Given the description of an element on the screen output the (x, y) to click on. 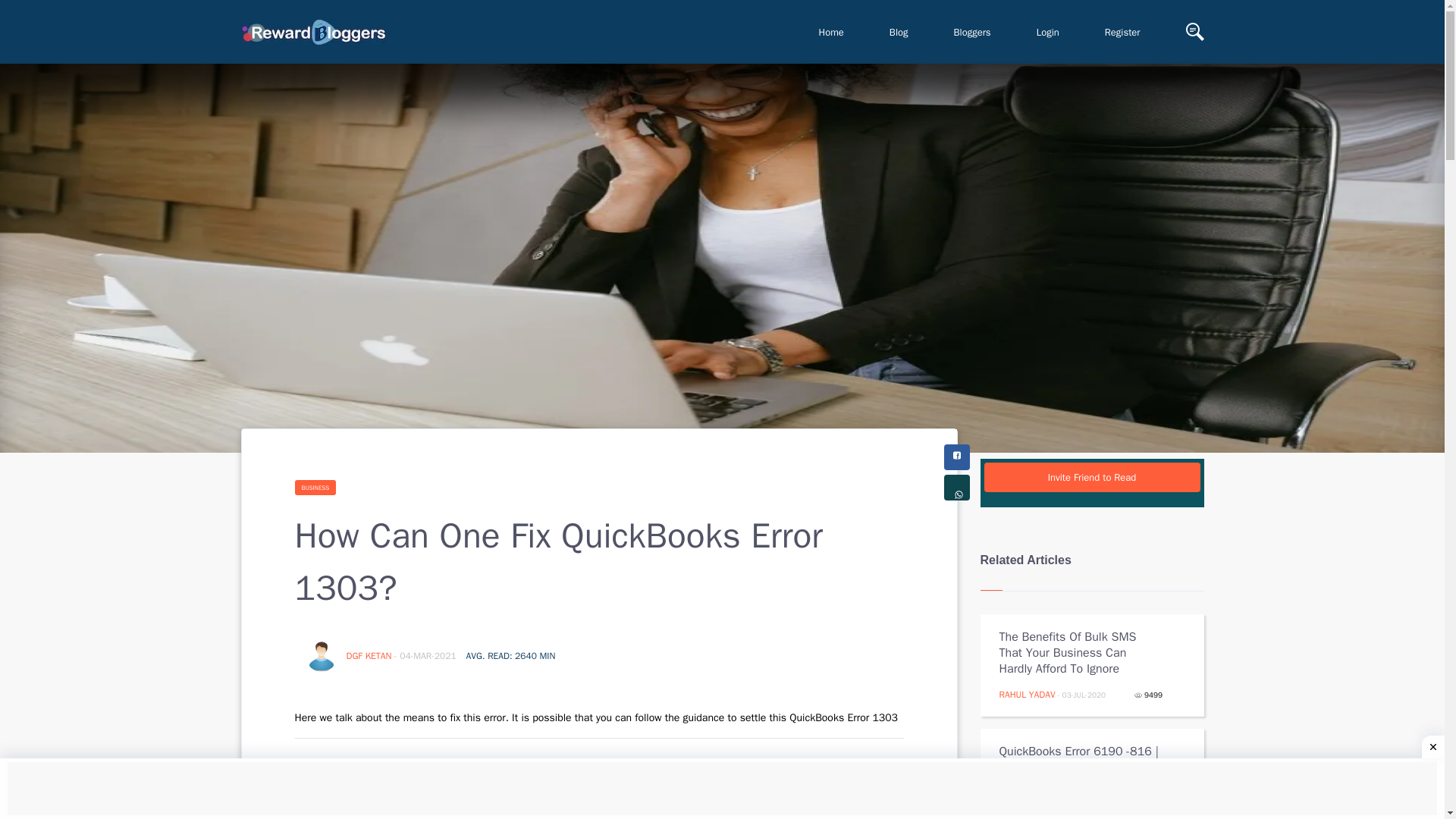
JOHN LIAM (1020, 808)
BUSINESS (315, 487)
Invite Friend to Read (1091, 477)
Login (1047, 31)
Register (1122, 31)
DGF KETAN (370, 655)
RAHUL YADAV (1026, 694)
Blog (898, 31)
Advertisement (722, 790)
